Given the description of an element on the screen output the (x, y) to click on. 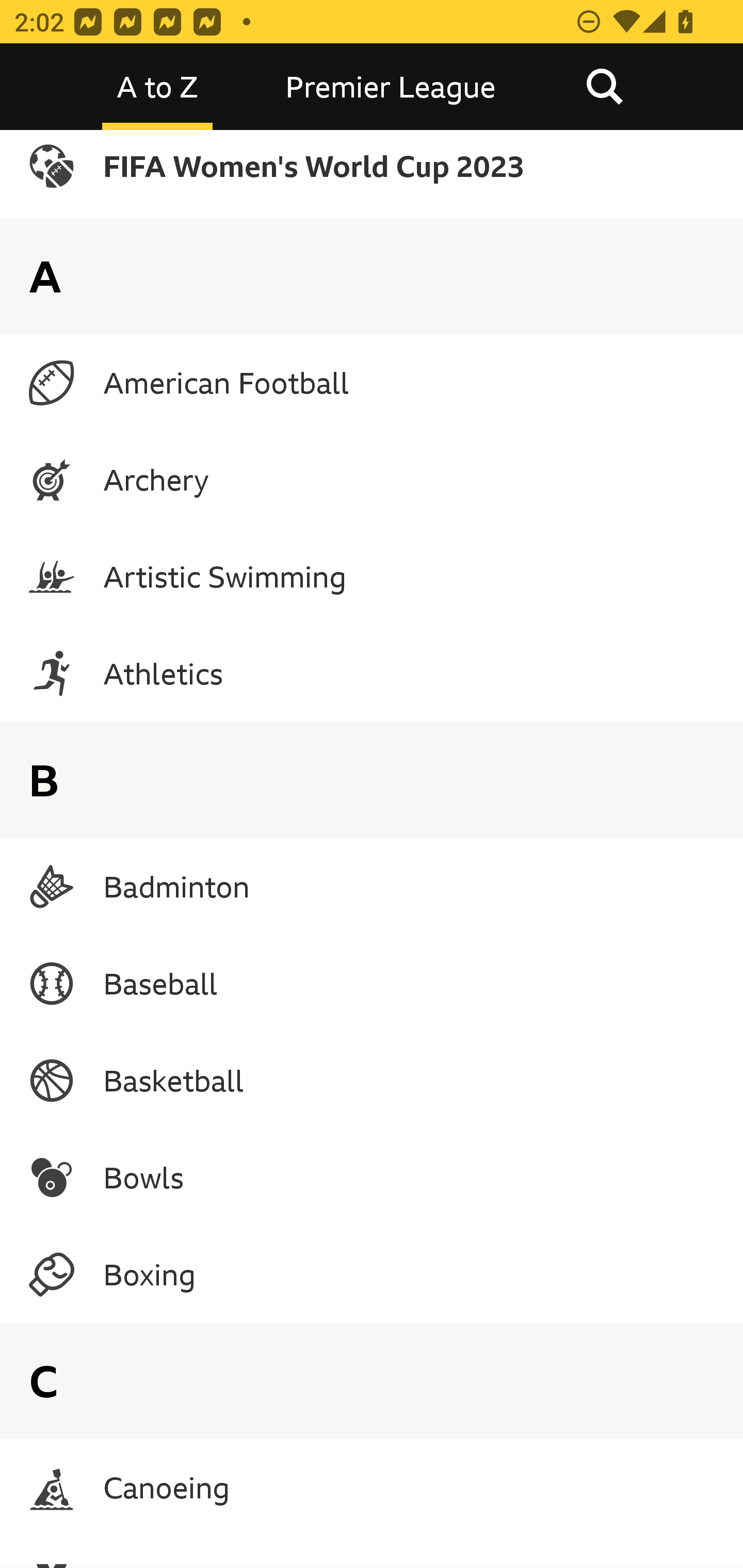
Premier League (390, 86)
Search (604, 86)
FIFA Women's World Cup 2023 (371, 173)
American Football (371, 382)
Archery (371, 479)
Artistic Swimming (371, 576)
Athletics (371, 673)
Badminton (371, 886)
Baseball (371, 982)
Basketball (371, 1079)
Bowls (371, 1177)
Boxing (371, 1274)
Canoeing (371, 1487)
